Given the description of an element on the screen output the (x, y) to click on. 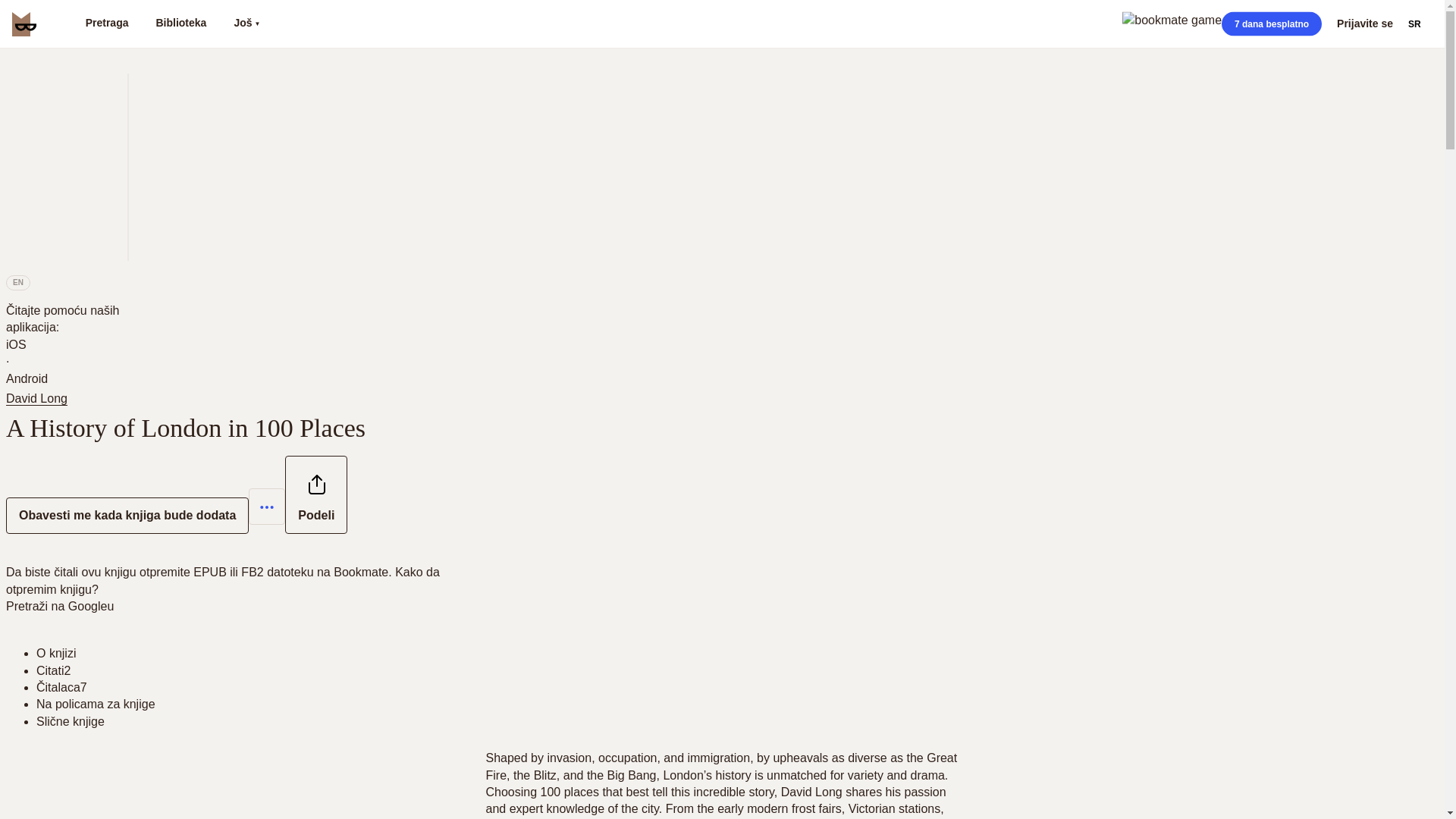
Kako da otpremim knjigu? (222, 580)
David Long (39, 398)
7 dana besplatno (1271, 23)
Citati2 (52, 670)
Na policama za knjige (95, 703)
Pretraga (106, 24)
Biblioteka (180, 24)
O knjizi (55, 653)
David Long (35, 398)
